Given the description of an element on the screen output the (x, y) to click on. 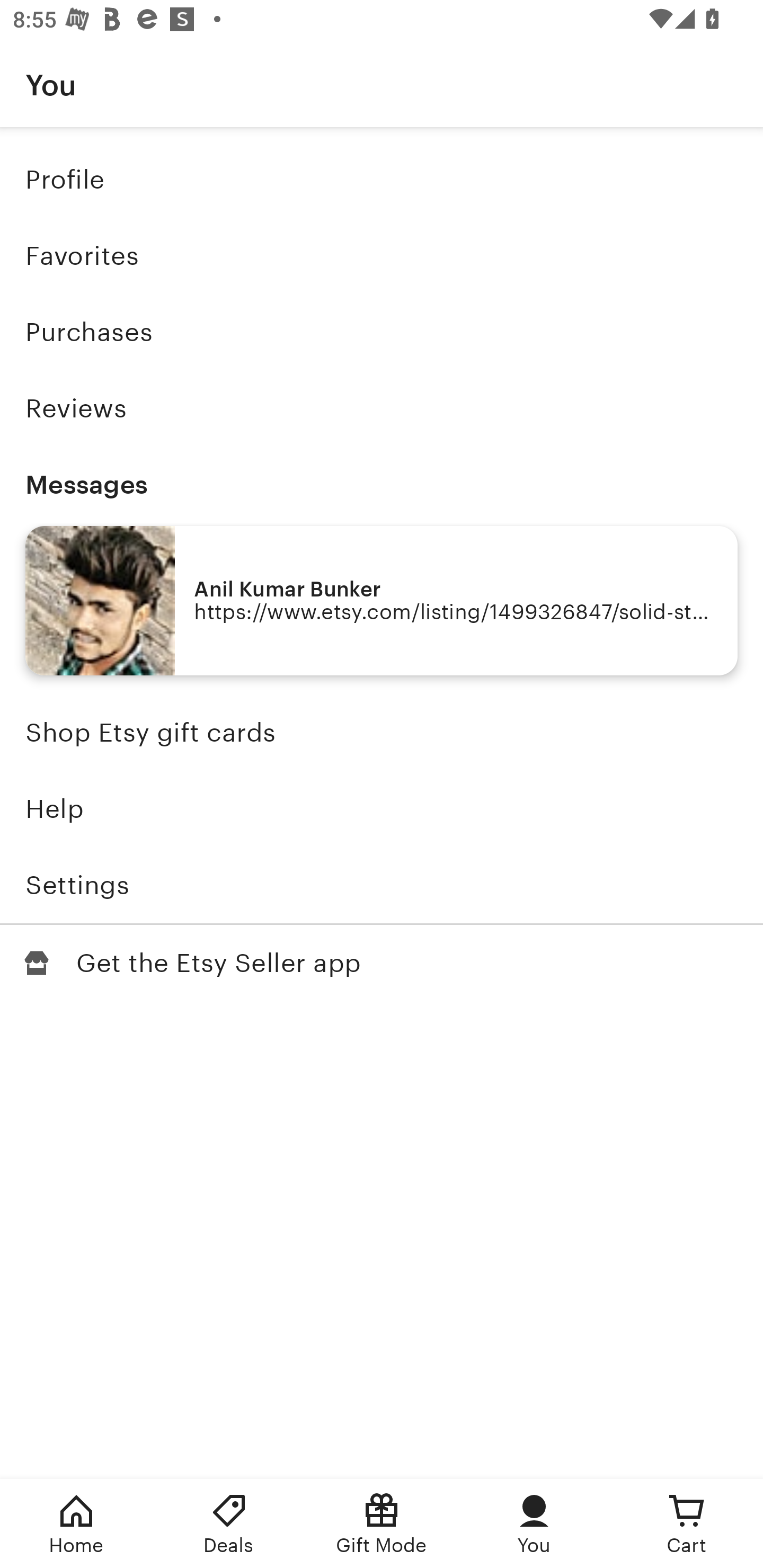
Profile (381, 179)
Favorites (381, 255)
Purchases (381, 332)
Reviews (381, 408)
Messages (381, 484)
Shop Etsy gift cards (381, 732)
Help (381, 808)
Settings (381, 884)
Get the Etsy Seller app (381, 963)
Home (76, 1523)
Deals (228, 1523)
Gift Mode (381, 1523)
Cart (686, 1523)
